Given the description of an element on the screen output the (x, y) to click on. 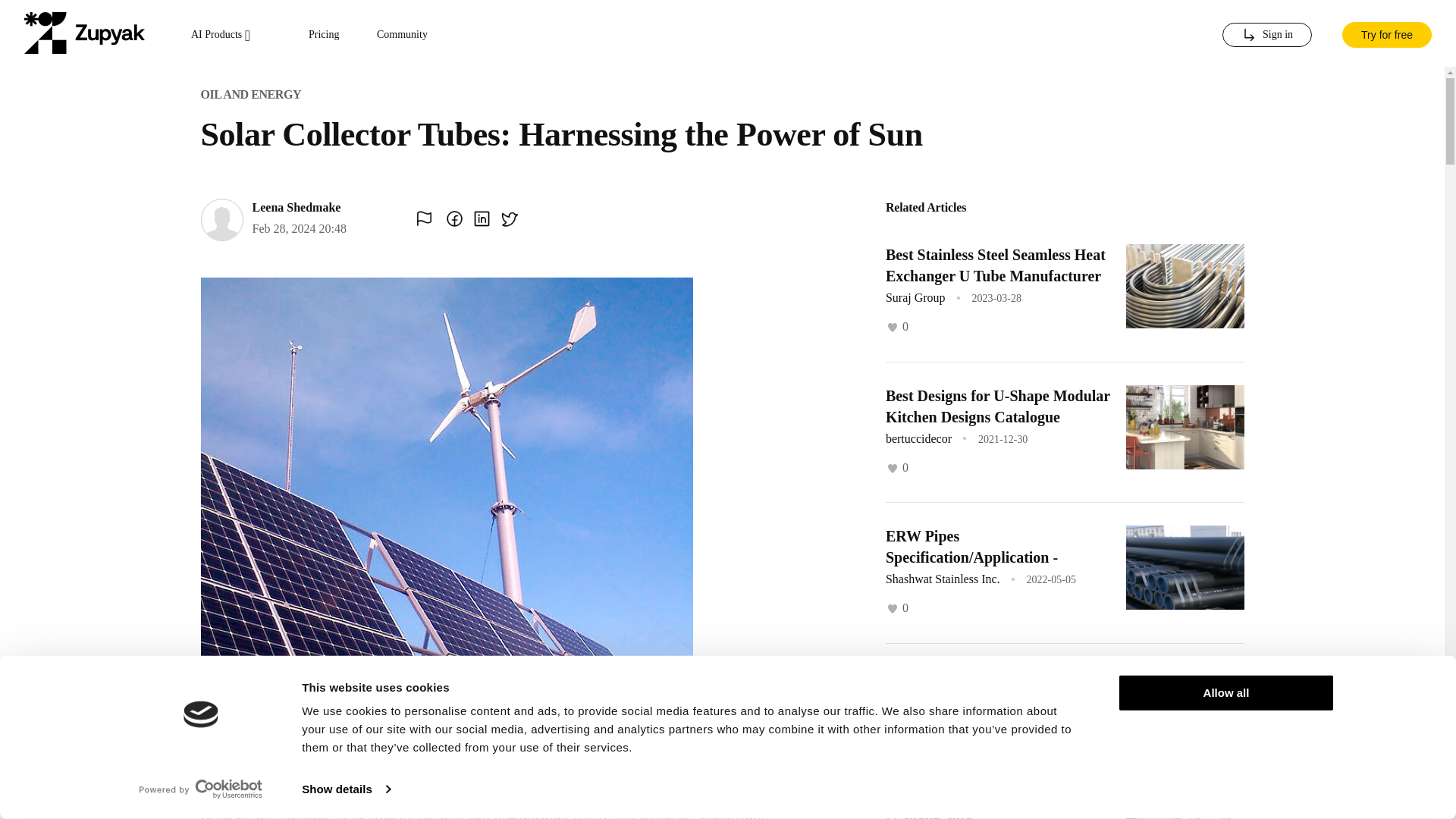
Get the Best Solar Collector Systems from Viessmann (975, 687)
Show details (345, 789)
Best Designs for U-Shape Modular Kitchen Designs Catalogue (997, 405)
U Shape Sofa (928, 814)
